Given the description of an element on the screen output the (x, y) to click on. 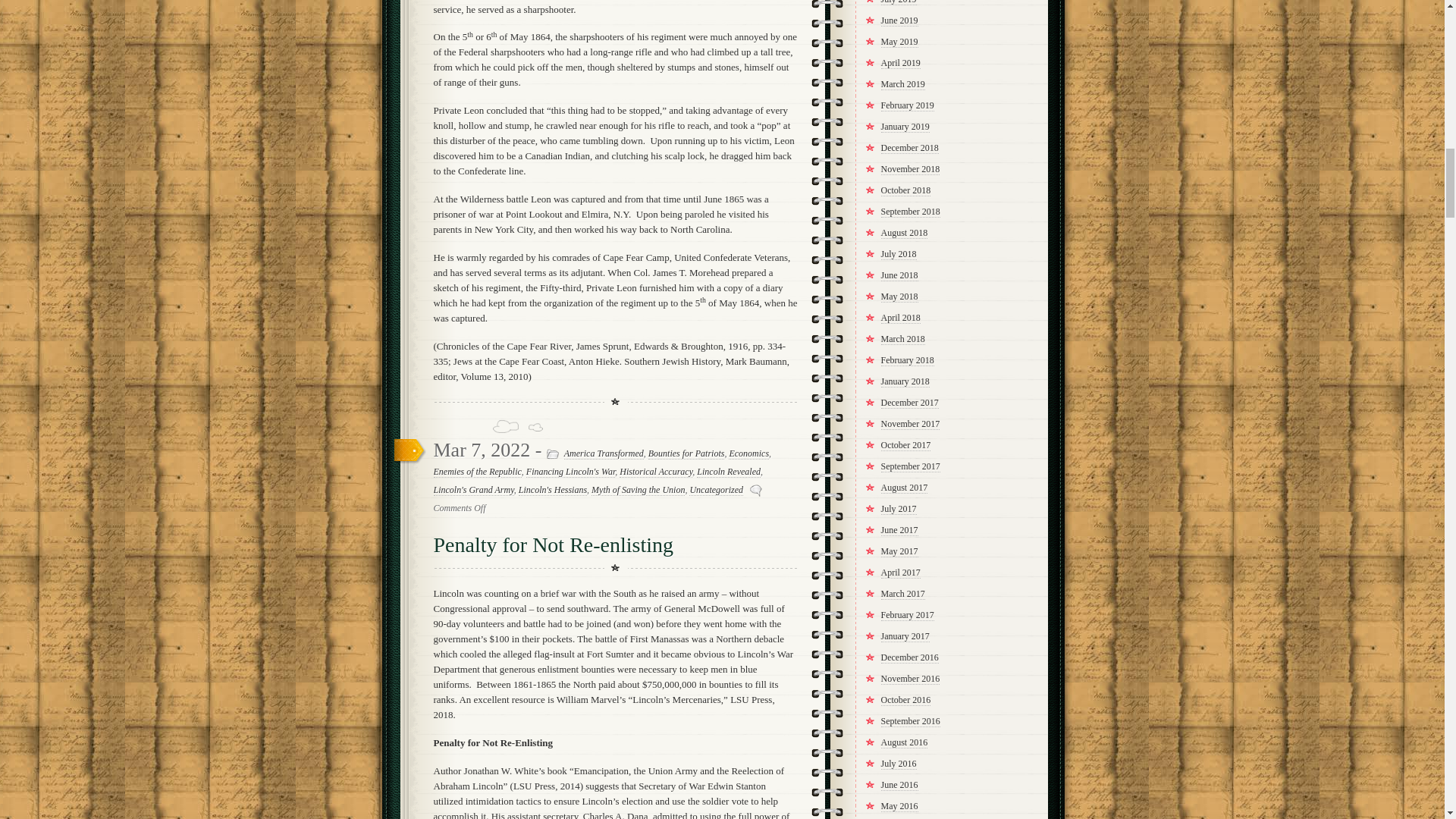
Enemies of the Republic (477, 471)
Lincoln Revealed (728, 471)
Uncategorized (715, 490)
Bounties for Patriots (686, 453)
Lincoln's Hessians (552, 490)
Penalty for Not Re-enlisting (553, 544)
Financing Lincoln's War (569, 471)
Myth of Saving the Union (637, 490)
Lincoln's Grand Army (473, 490)
Economics (748, 453)
Historical Accuracy (656, 471)
America Transformed (603, 453)
